Given the description of an element on the screen output the (x, y) to click on. 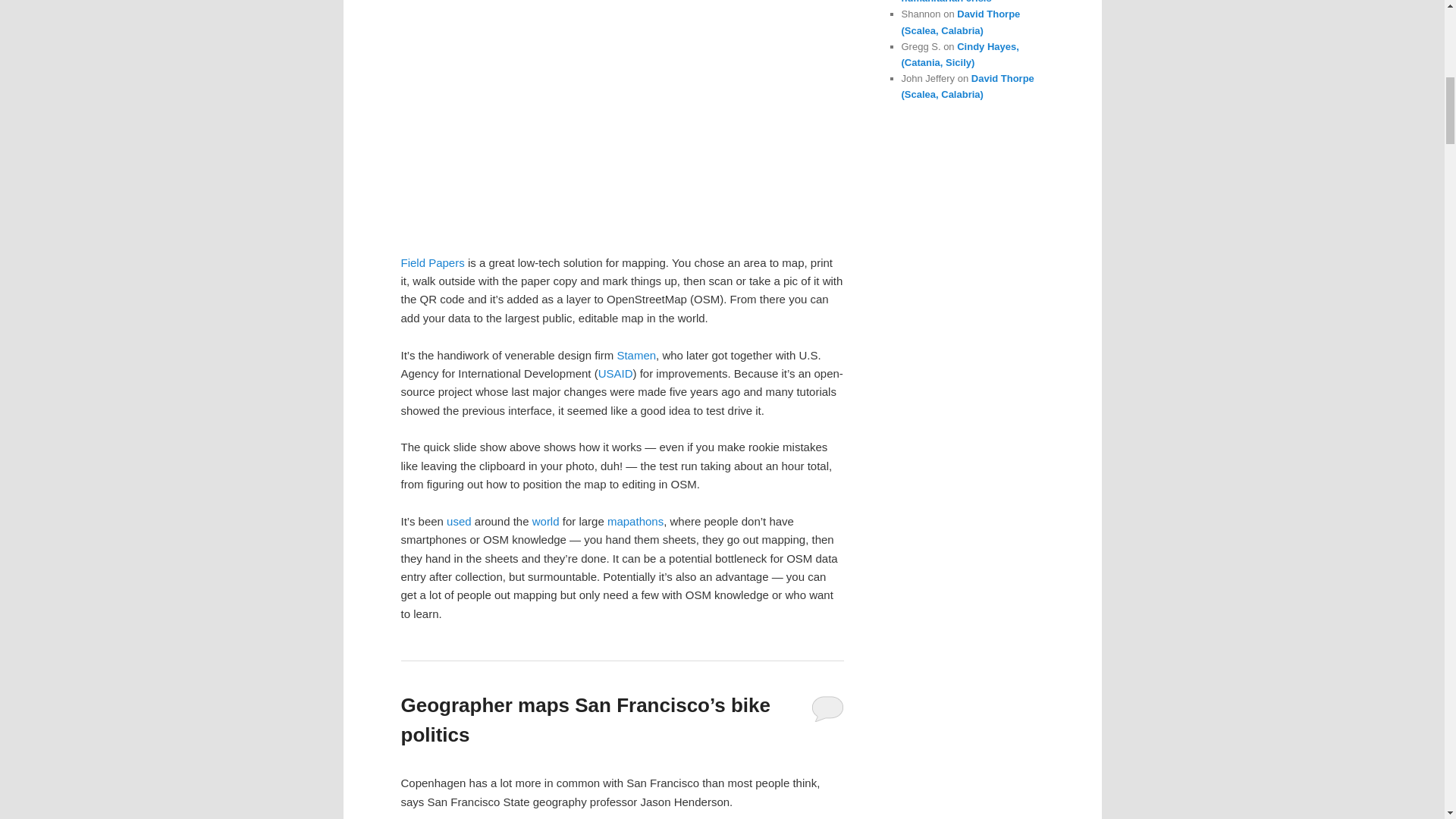
USAID (615, 373)
world (545, 521)
used (458, 521)
mapathons (635, 521)
Field Papers (432, 262)
Stamen (635, 354)
